Given the description of an element on the screen output the (x, y) to click on. 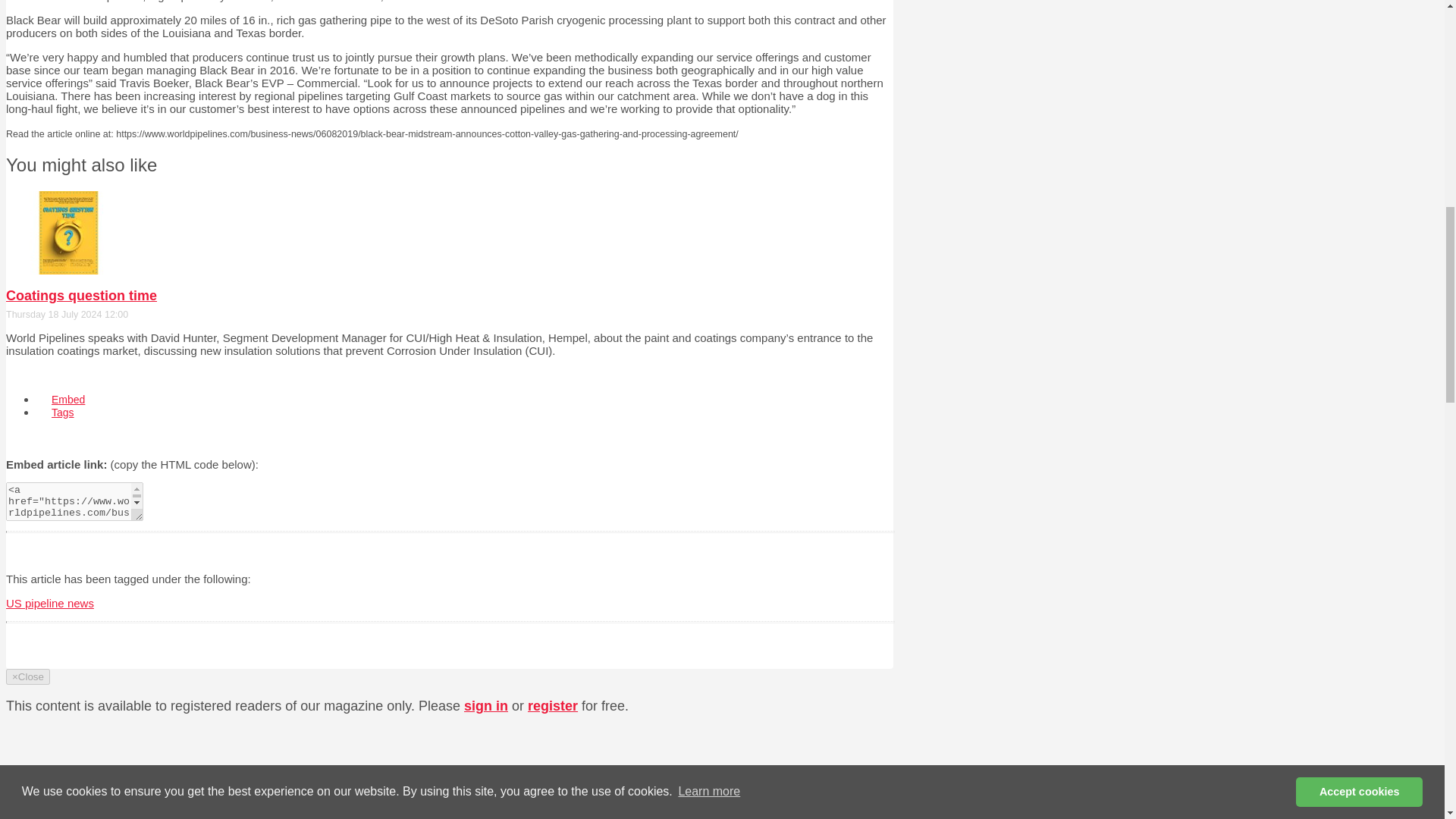
US pipeline news (49, 603)
Embed (68, 399)
register (552, 705)
Coatings question time (81, 295)
Tags (62, 411)
sign in (486, 705)
3rd party ad content (774, 742)
